Given the description of an element on the screen output the (x, y) to click on. 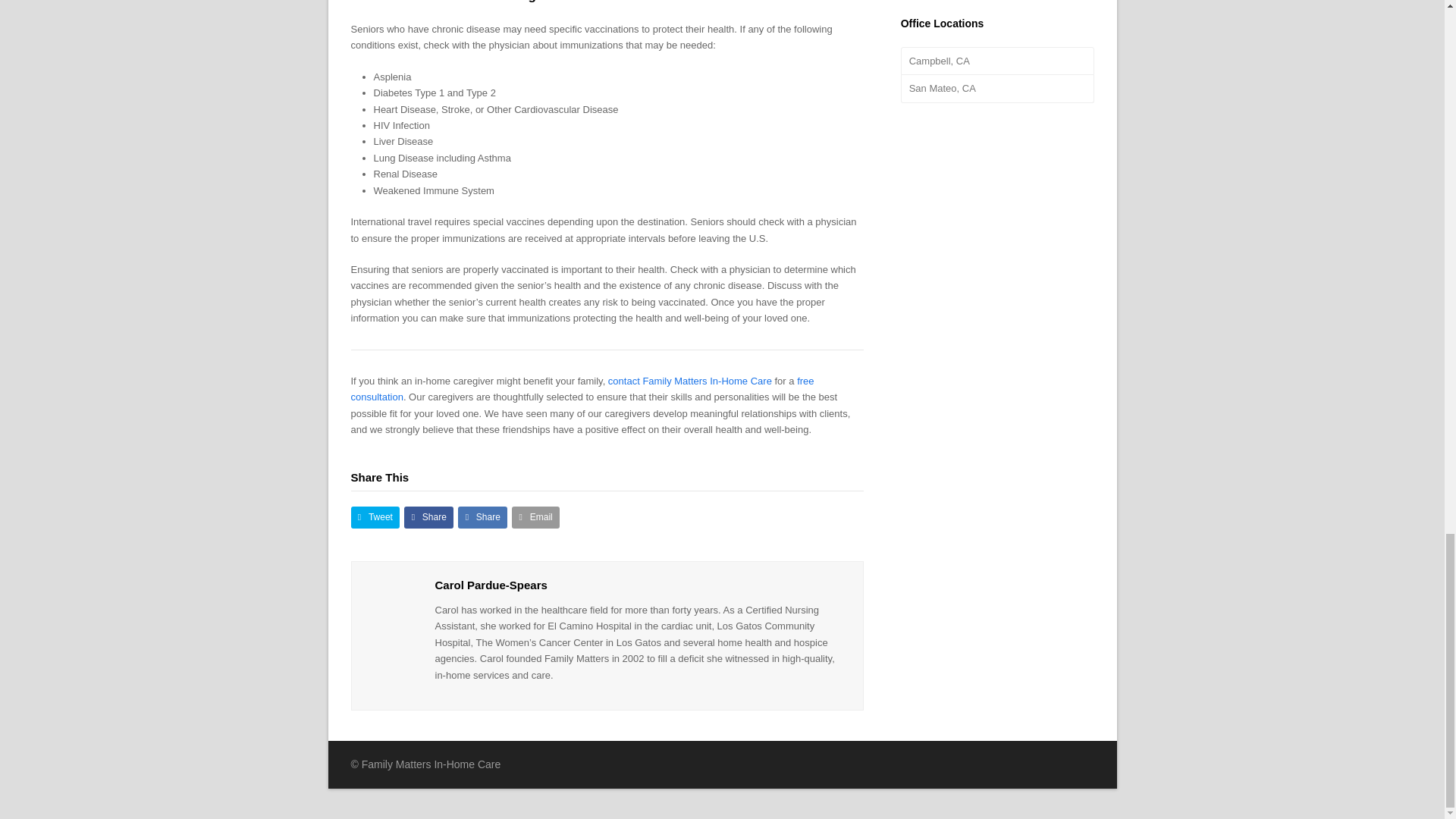
Carol Pardue-Spears (491, 584)
Share (482, 517)
Email (535, 517)
Tweet (374, 517)
Visit Author Page (393, 603)
Visit Author Page (491, 584)
contact Family Matters In-Home Care (689, 380)
free consultation (581, 388)
Share (428, 517)
